Given the description of an element on the screen output the (x, y) to click on. 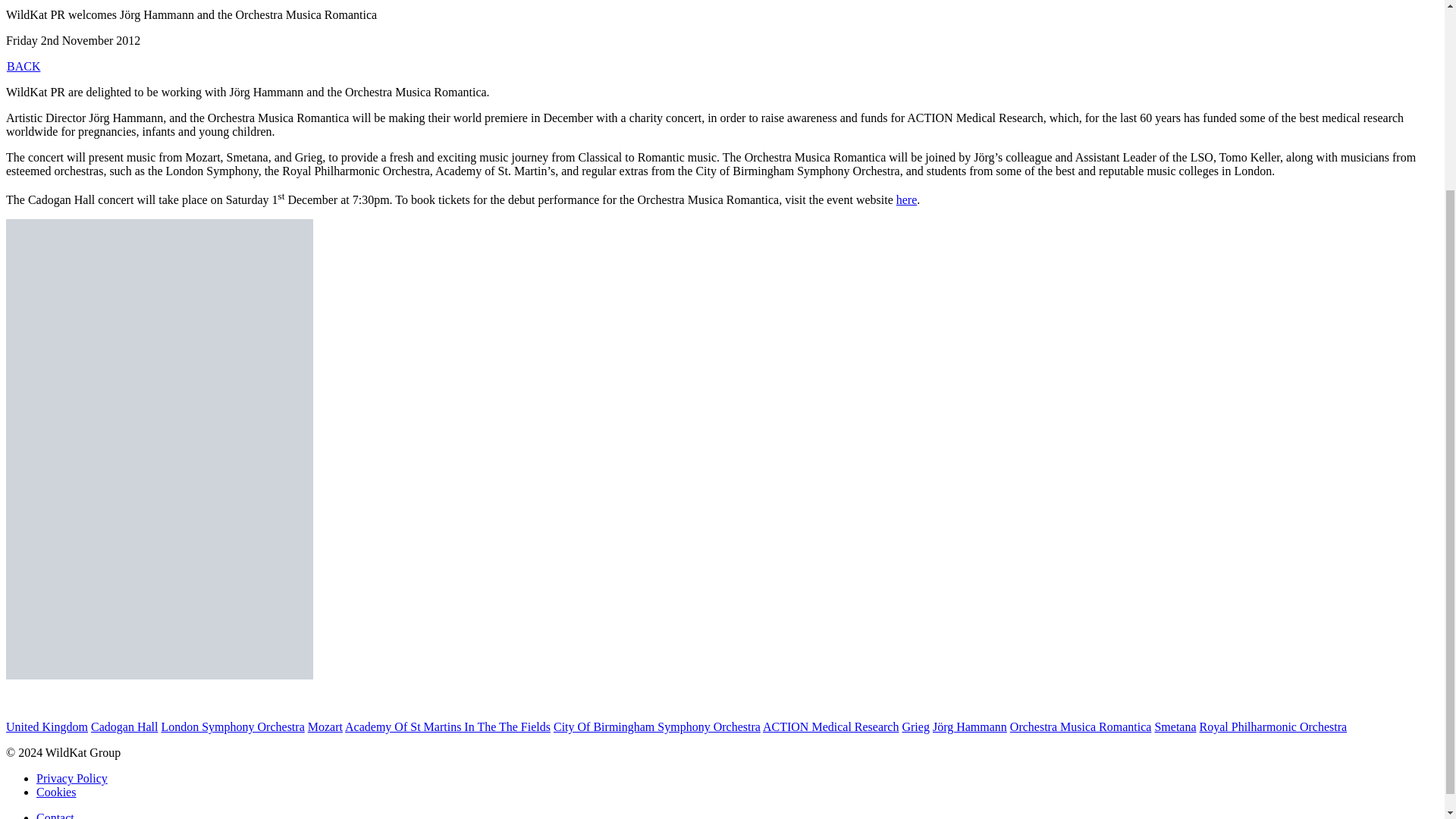
Mozart (324, 726)
ACTION Medical Research (830, 726)
Academy Of St Martins In The The Fields (447, 726)
United Kingdom (46, 726)
Cadogan Hall (123, 726)
BACK (22, 65)
Privacy Policy (71, 778)
Orchestra Musica Romantica (1080, 726)
Smetana (1174, 726)
Cookies (55, 791)
